Given the description of an element on the screen output the (x, y) to click on. 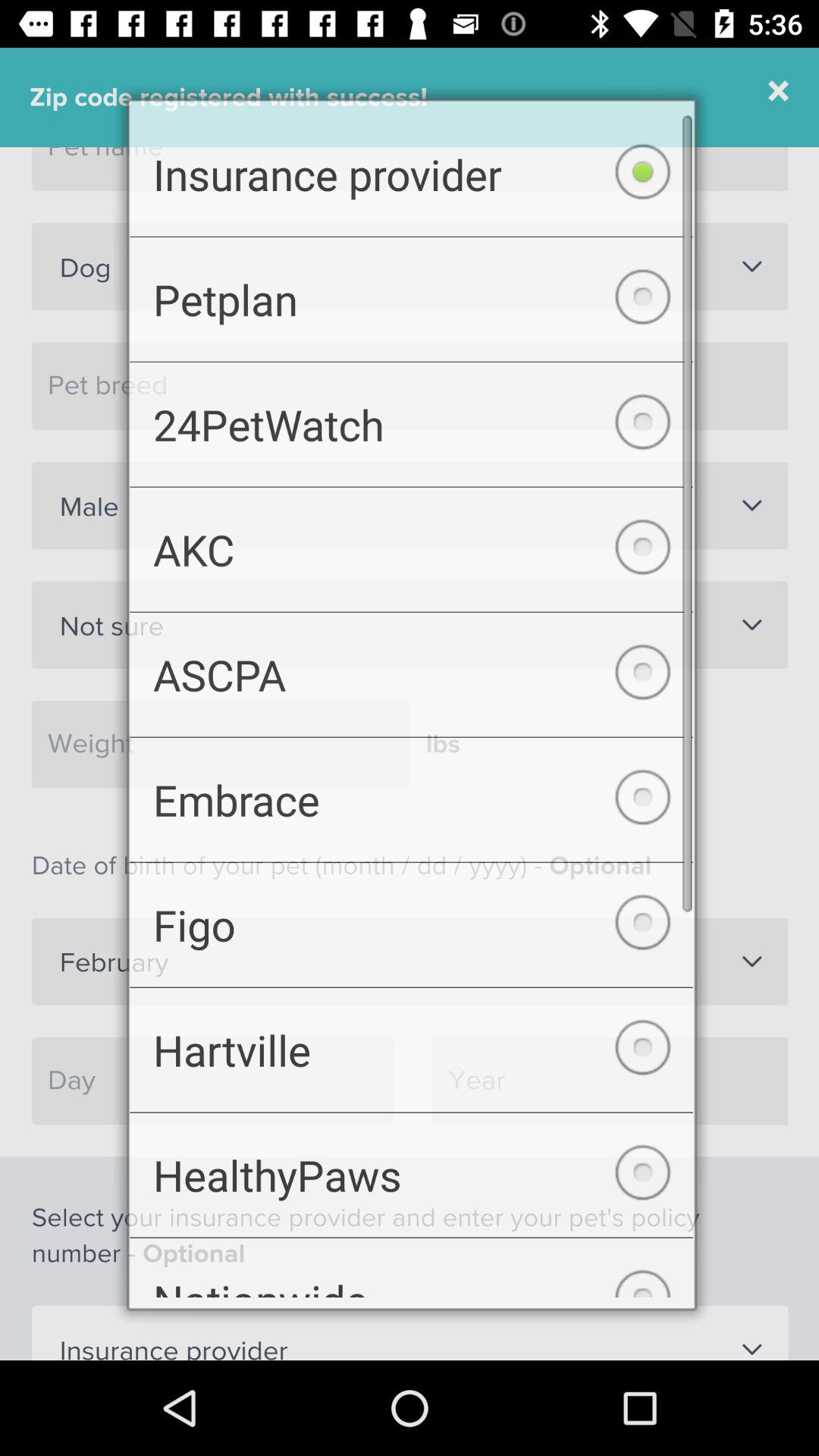
click the icon below the petplan checkbox (411, 416)
